Given the description of an element on the screen output the (x, y) to click on. 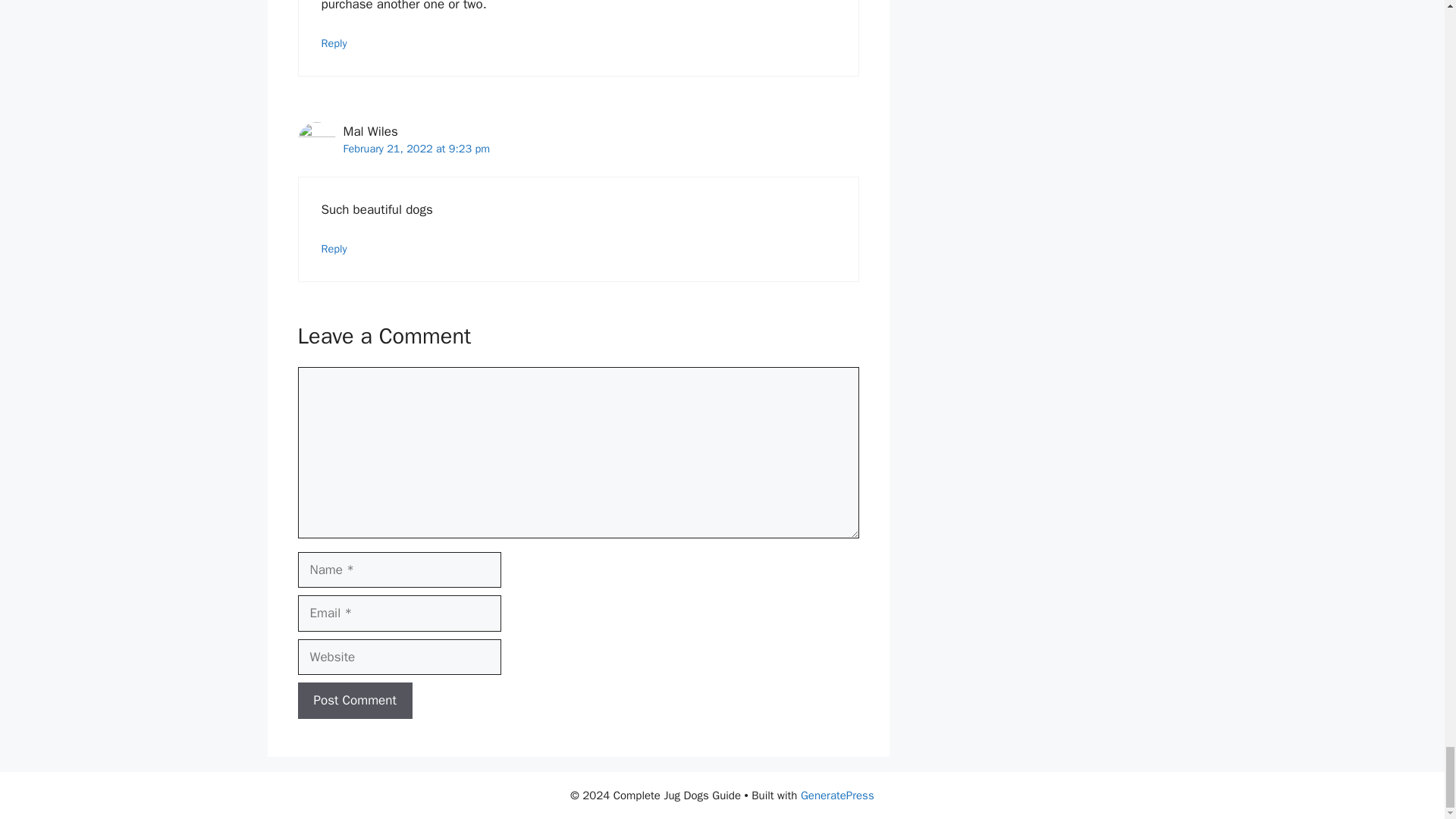
Reply (334, 42)
February 21, 2022 at 9:23 pm (415, 148)
Reply (334, 248)
Post Comment (354, 700)
